Given the description of an element on the screen output the (x, y) to click on. 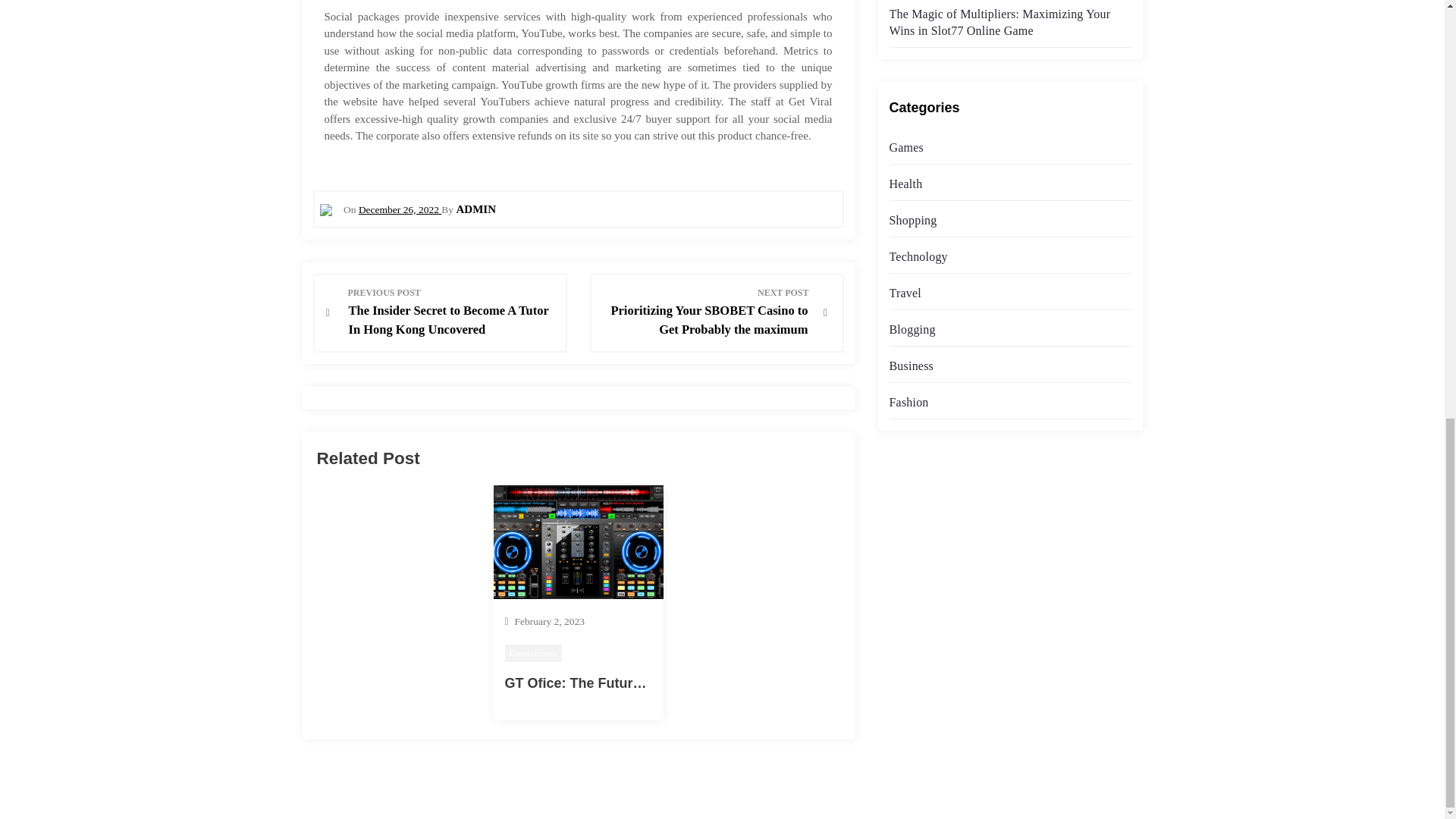
Health (904, 183)
Games (905, 146)
Entertainment (533, 652)
December 26, 2022 (399, 209)
ADMIN (475, 209)
